Given the description of an element on the screen output the (x, y) to click on. 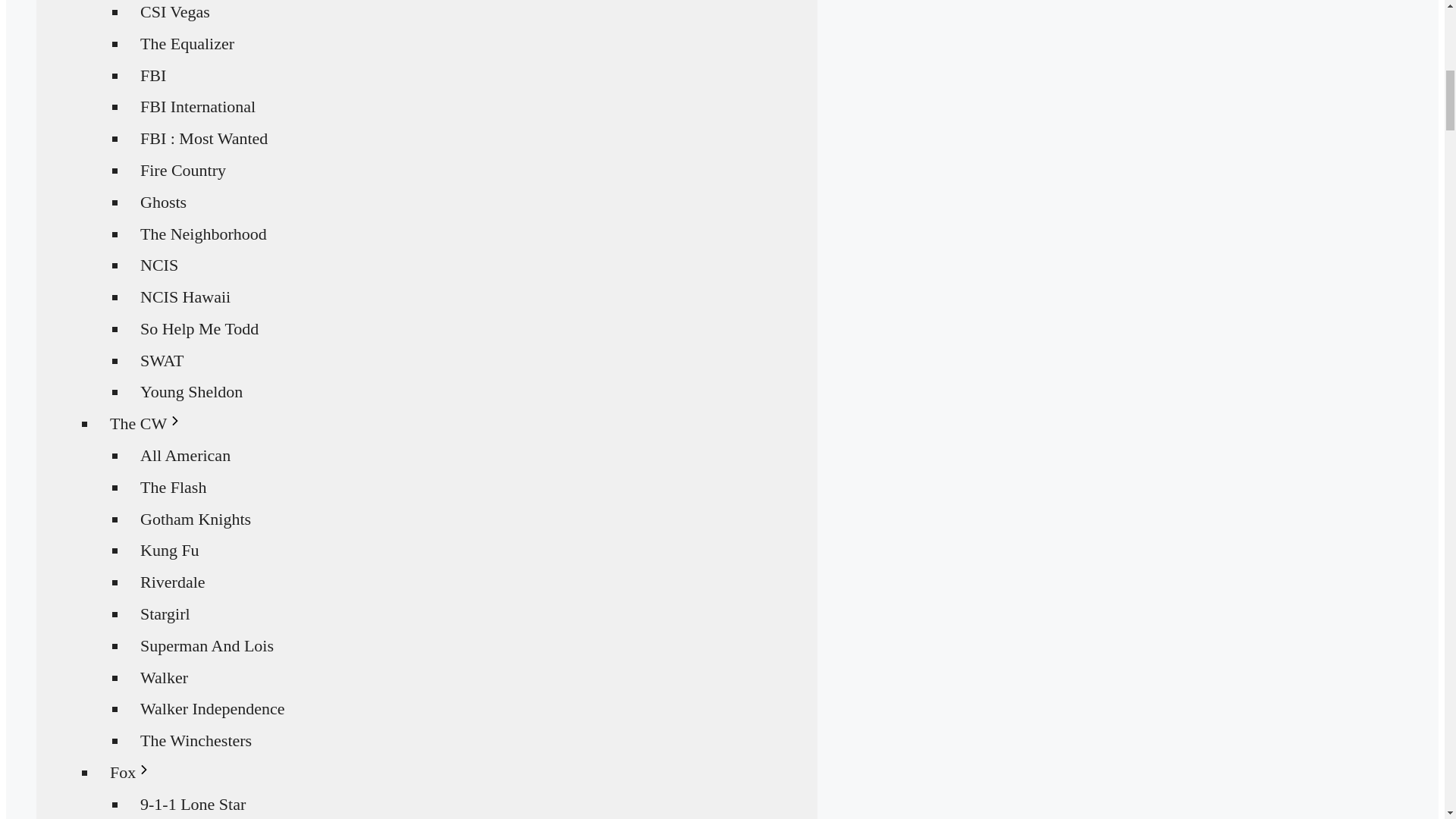
FBI International (197, 106)
FBI : Most Wanted (204, 138)
NCIS Hawaii (185, 296)
SWAT (162, 360)
Ghosts (163, 202)
The Neighborhood (203, 233)
The CW (153, 423)
Young Sheldon (192, 391)
So Help Me Todd (199, 328)
FBI (153, 75)
